Given the description of an element on the screen output the (x, y) to click on. 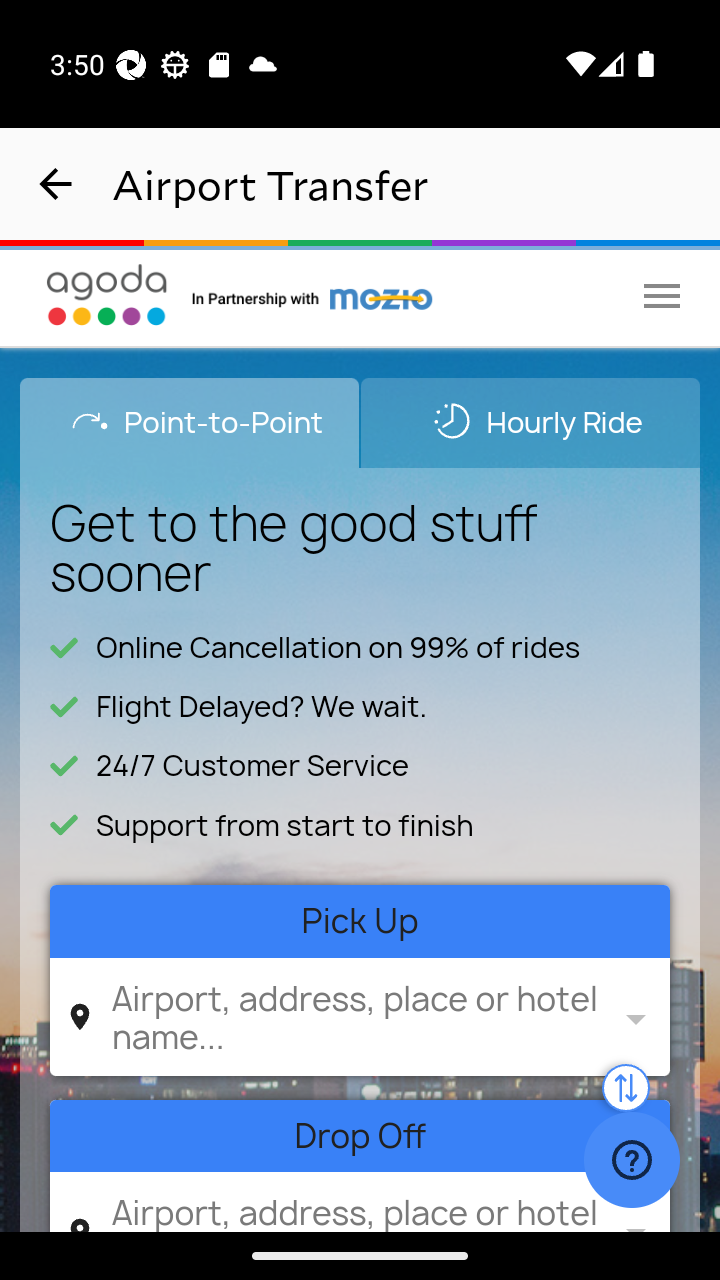
navigation_button (56, 184)
agoda.mozio (313, 295)
menu (661, 295)
Point-to-Point (190, 422)
Hourly Ride (529, 422)
Airport, address, place or hotel name... (355, 1016)
Opens a widget where you can find more information (631, 1162)
Airport, address, place or hotel name... (355, 1205)
